Given the description of an element on the screen output the (x, y) to click on. 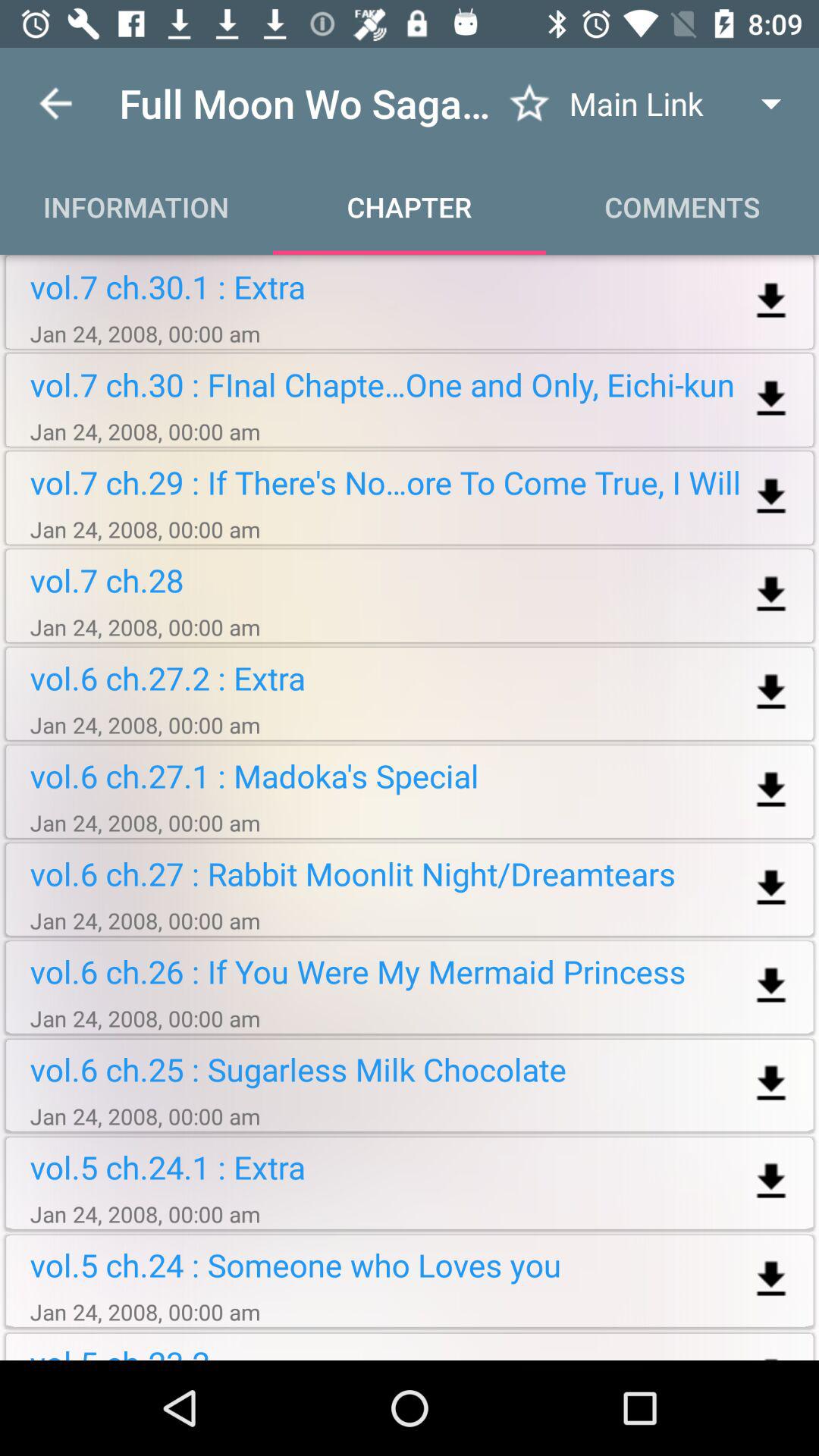
download chapter (771, 1083)
